Given the description of an element on the screen output the (x, y) to click on. 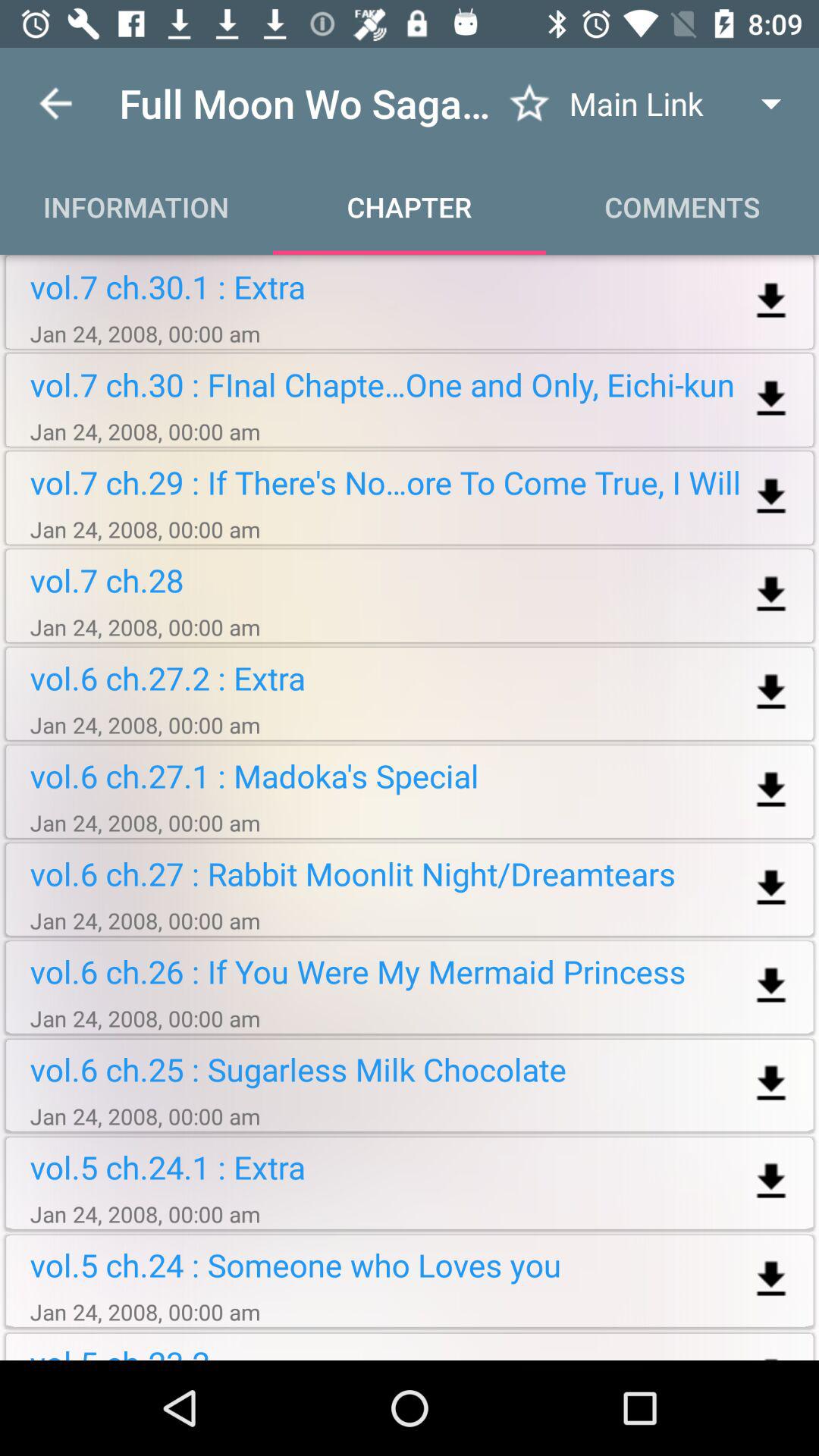
download chapter (771, 1083)
